Given the description of an element on the screen output the (x, y) to click on. 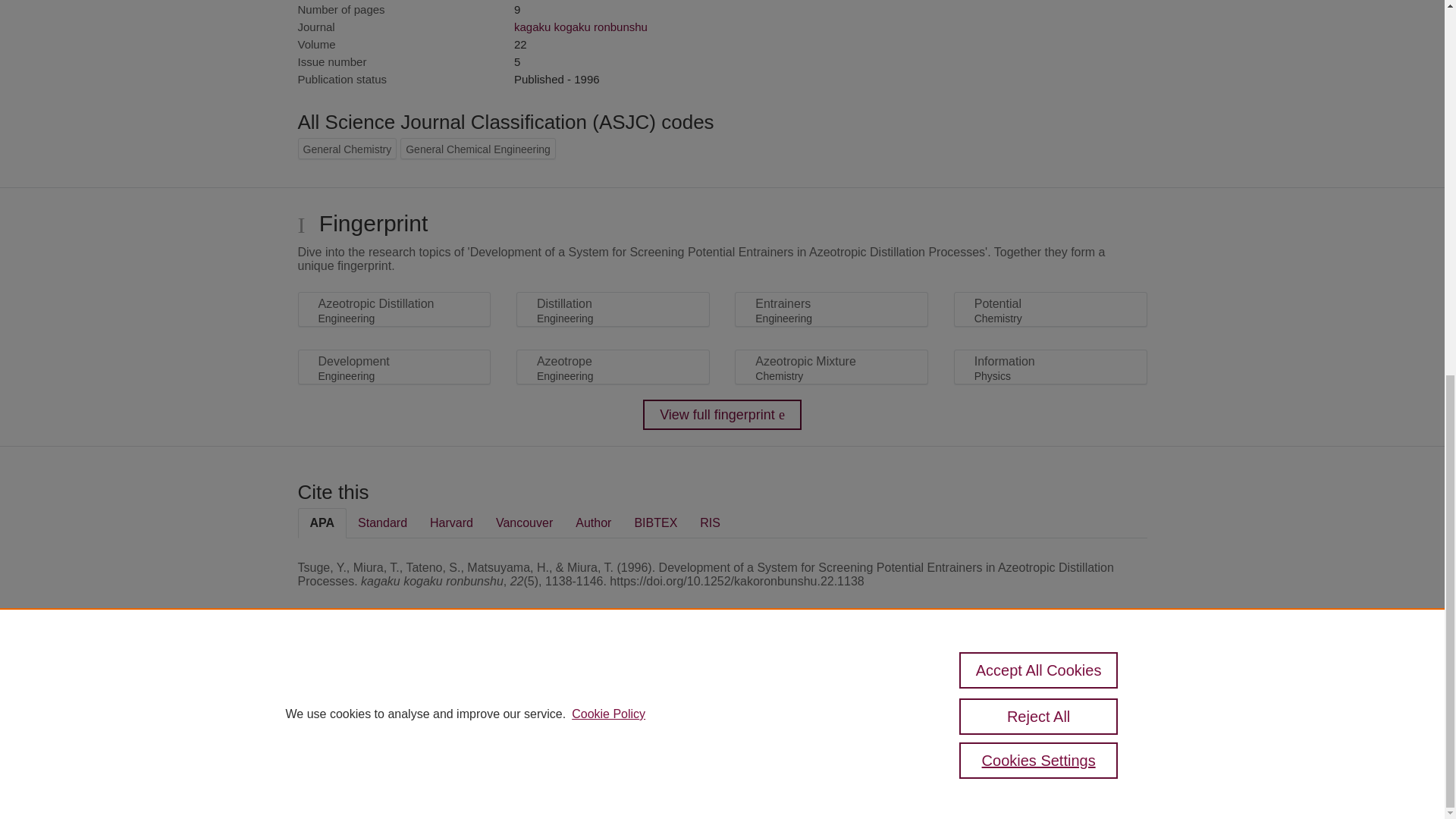
Pure (362, 686)
kagaku kogaku ronbunshu (580, 26)
use of cookies (796, 739)
View full fingerprint (722, 414)
Scopus (394, 686)
Elsevier B.V. (506, 707)
